Given the description of an element on the screen output the (x, y) to click on. 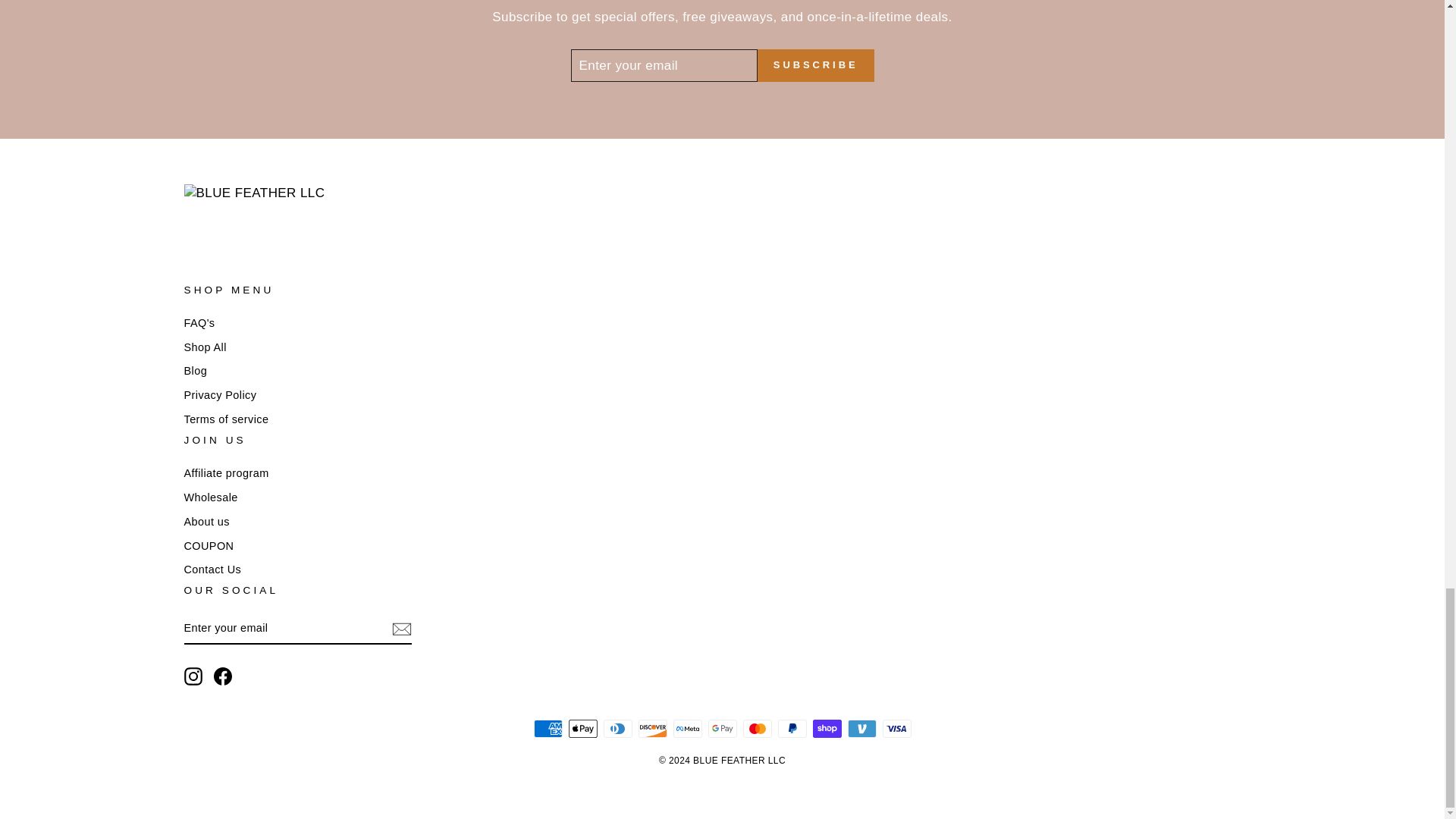
American Express (548, 728)
Apple Pay (582, 728)
BLUE FEATHER LLC on Facebook (222, 676)
PayPal (791, 728)
Discover (652, 728)
Diners Club (617, 728)
Mastercard (756, 728)
Shop Pay (826, 728)
Venmo (861, 728)
Meta Pay (686, 728)
